Given the description of an element on the screen output the (x, y) to click on. 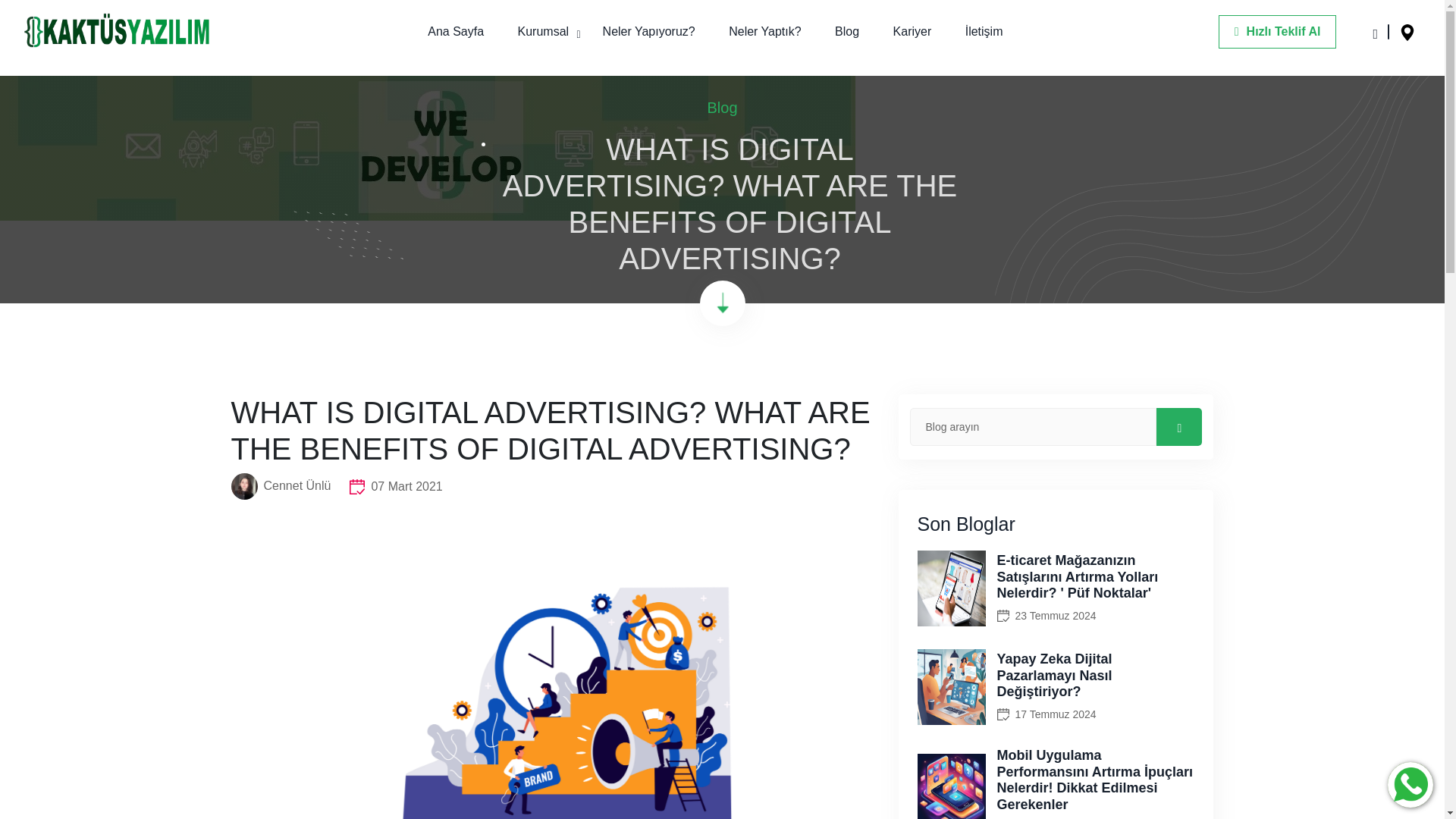
Blog (721, 107)
